Given the description of an element on the screen output the (x, y) to click on. 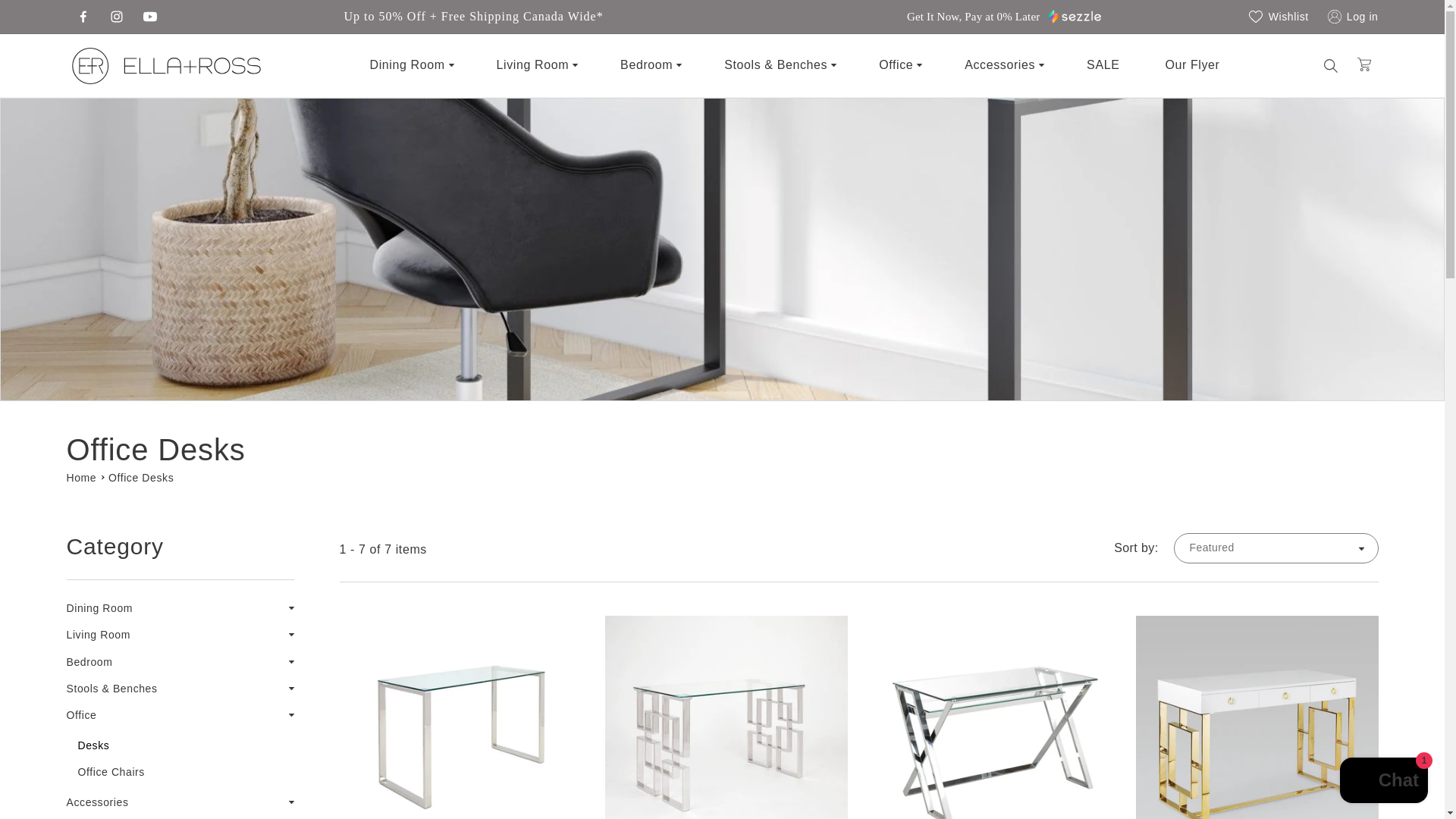
Facebook (83, 16)
Log in (1349, 16)
Wishlist (1278, 16)
Skip to content (71, 17)
YouTube (150, 16)
Instagram (116, 16)
Shopify online store chat (1383, 781)
